Given the description of an element on the screen output the (x, y) to click on. 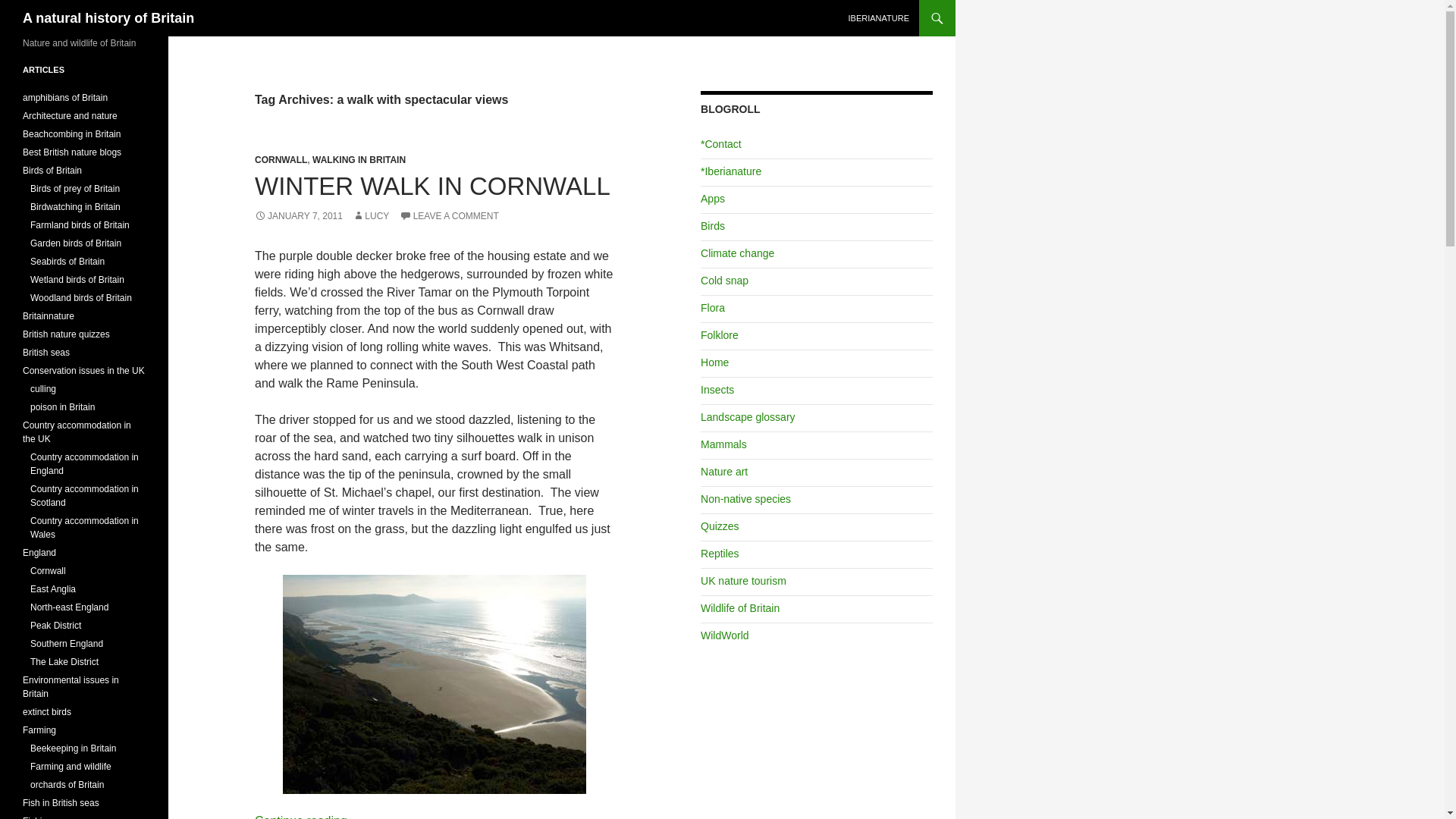
IBERIANATURE (879, 18)
A natural history of Britain (108, 18)
WALKING IN BRITAIN (359, 159)
Architecture and nature (70, 115)
Flora (712, 307)
Folklore (719, 335)
Home (714, 362)
whitsand-cornwall (434, 683)
Apps (712, 198)
Landscape glossary (747, 417)
Mammals (723, 444)
Wildlife of Britain (739, 607)
Nature art (724, 471)
Non-native species (745, 499)
Cold snap (724, 280)
